Given the description of an element on the screen output the (x, y) to click on. 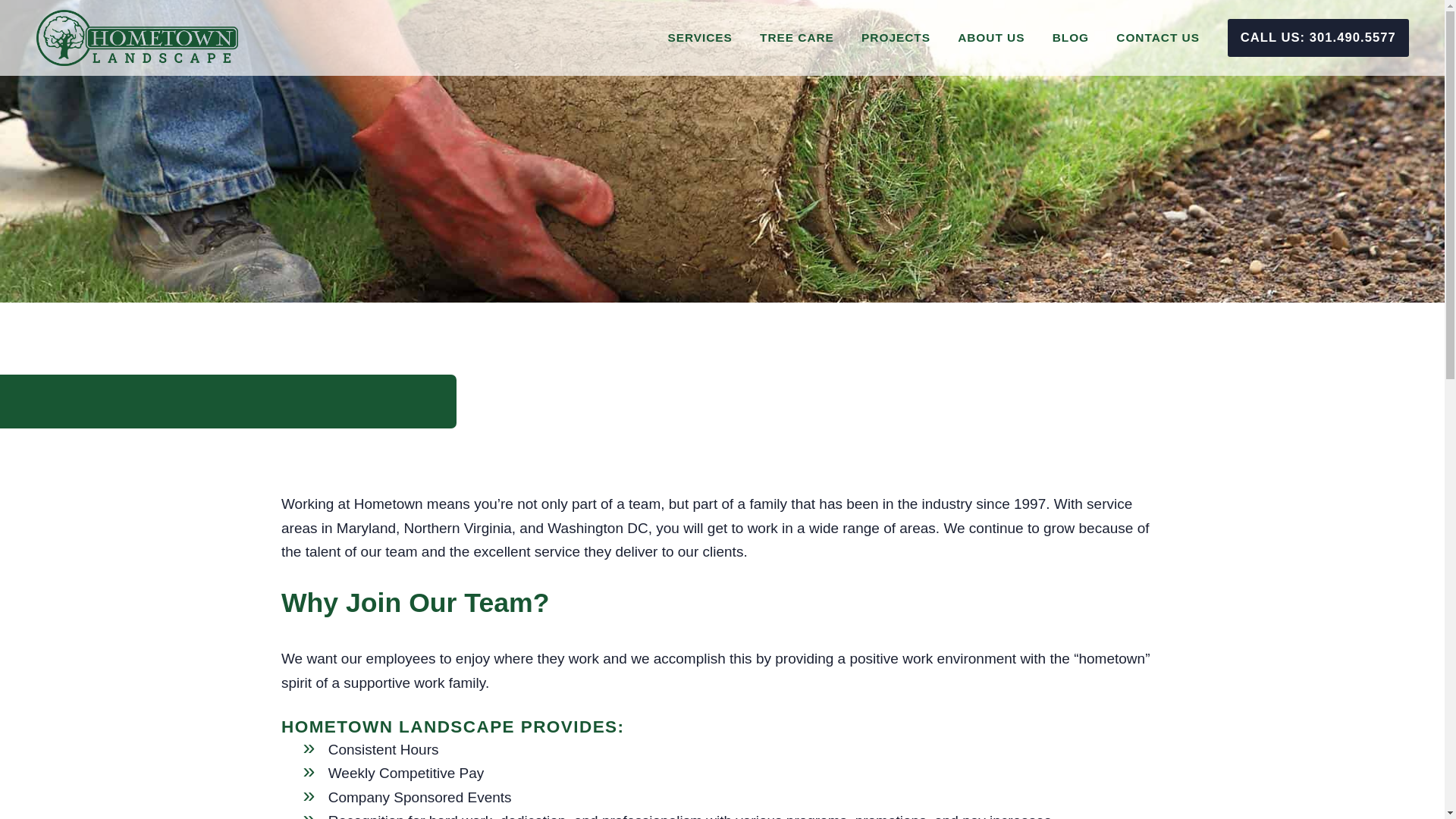
CALL US: 301.490.5577 (1318, 37)
